Given the description of an element on the screen output the (x, y) to click on. 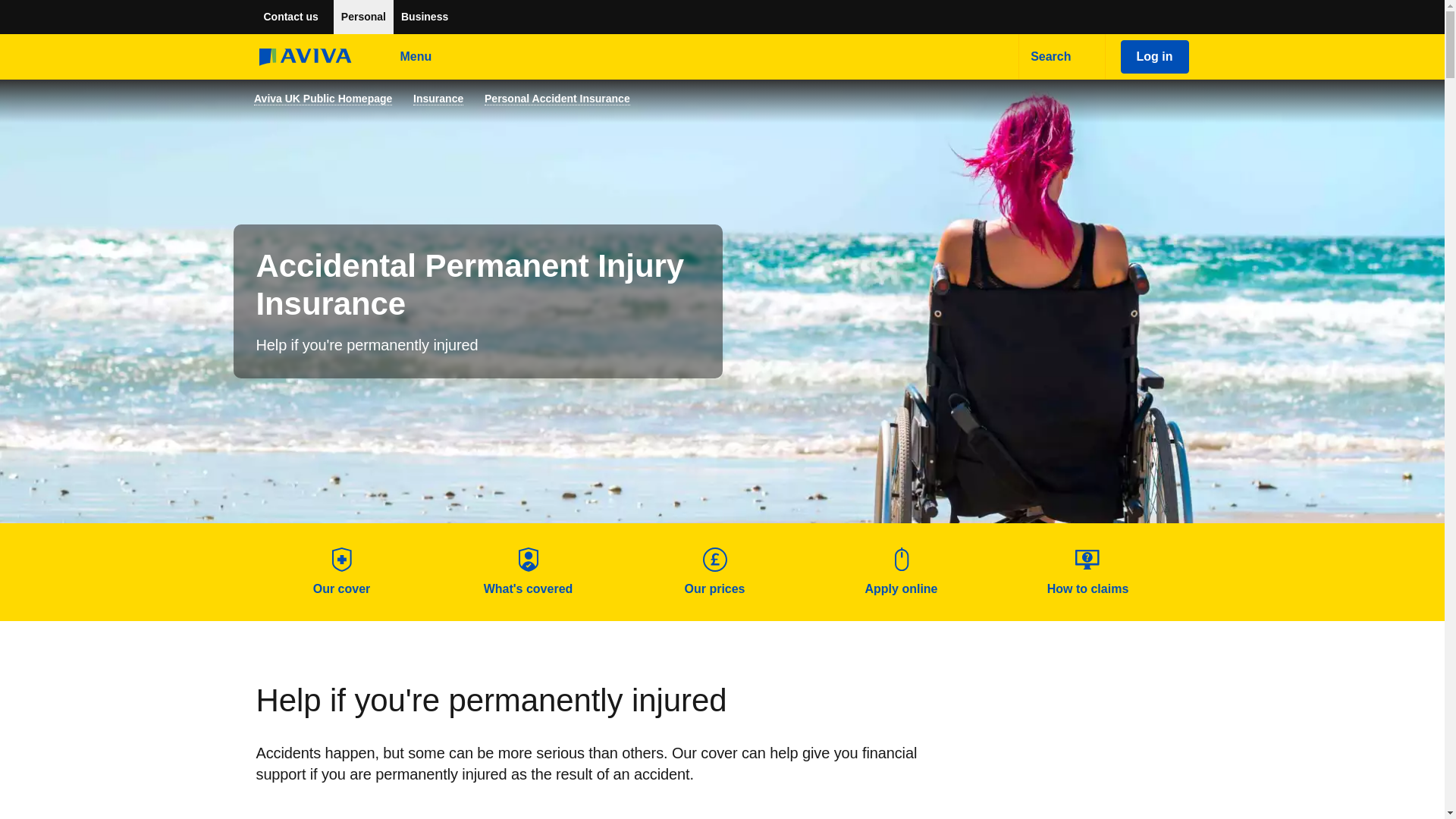
Personal Accident Insurance (557, 98)
What's covered (528, 571)
Contact us (291, 16)
Insurance (438, 98)
Our cover (342, 571)
How to claims (1087, 571)
Aviva UK Public Homepage (322, 98)
Apply online (900, 571)
Business (424, 17)
Our prices (714, 571)
